Given the description of an element on the screen output the (x, y) to click on. 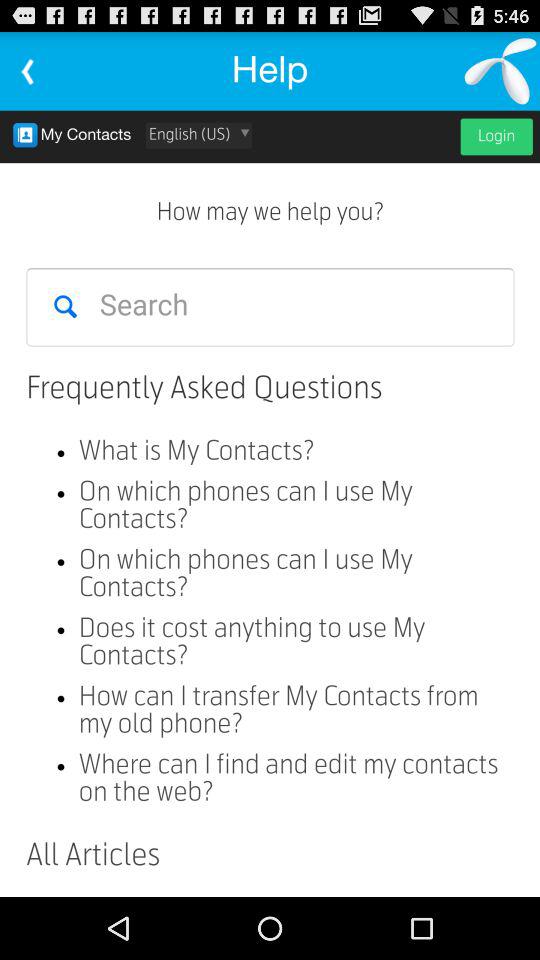
select faq 's (270, 503)
